Given the description of an element on the screen output the (x, y) to click on. 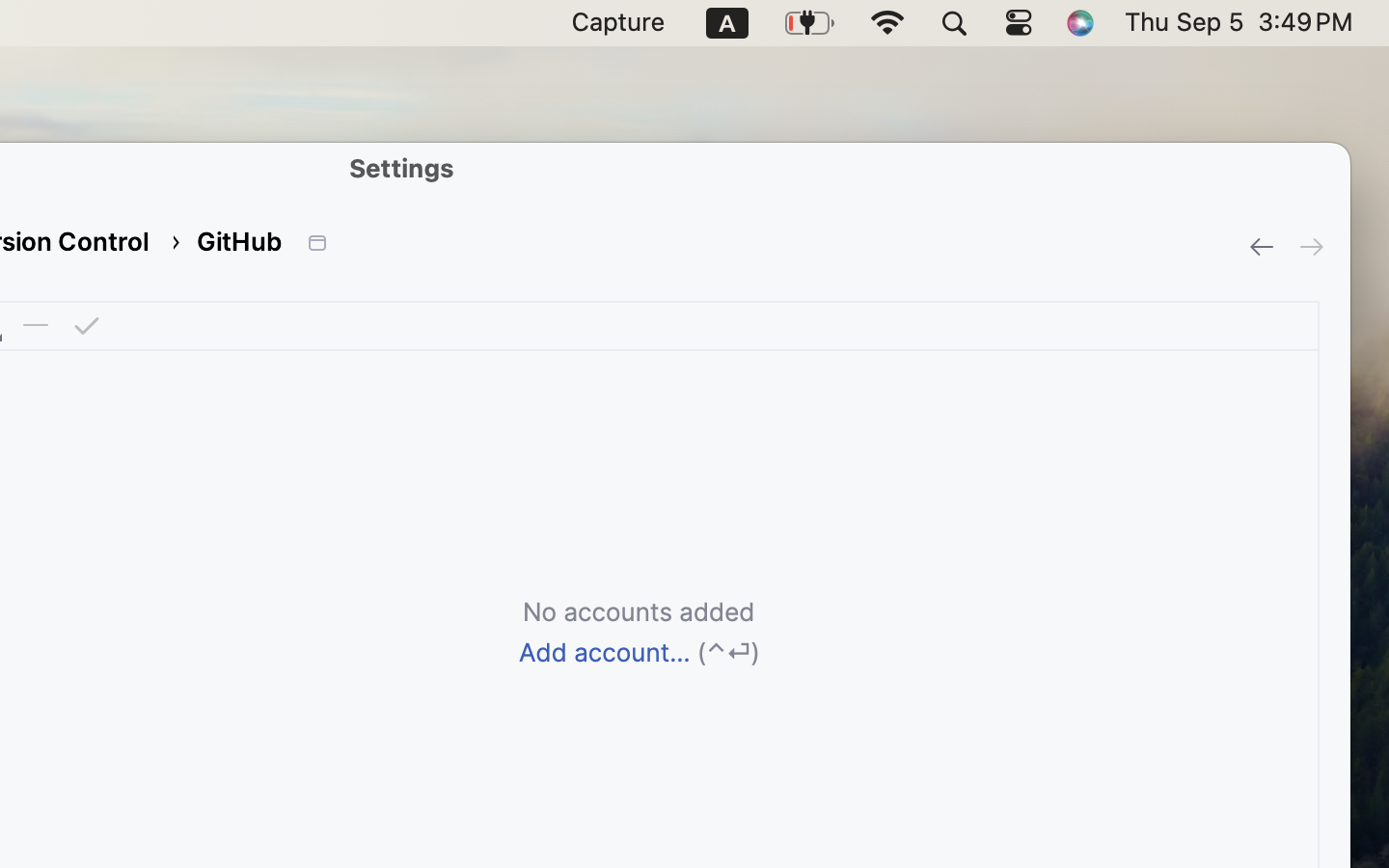
Settings Element type: AXStaticText (402, 167)
